Given the description of an element on the screen output the (x, y) to click on. 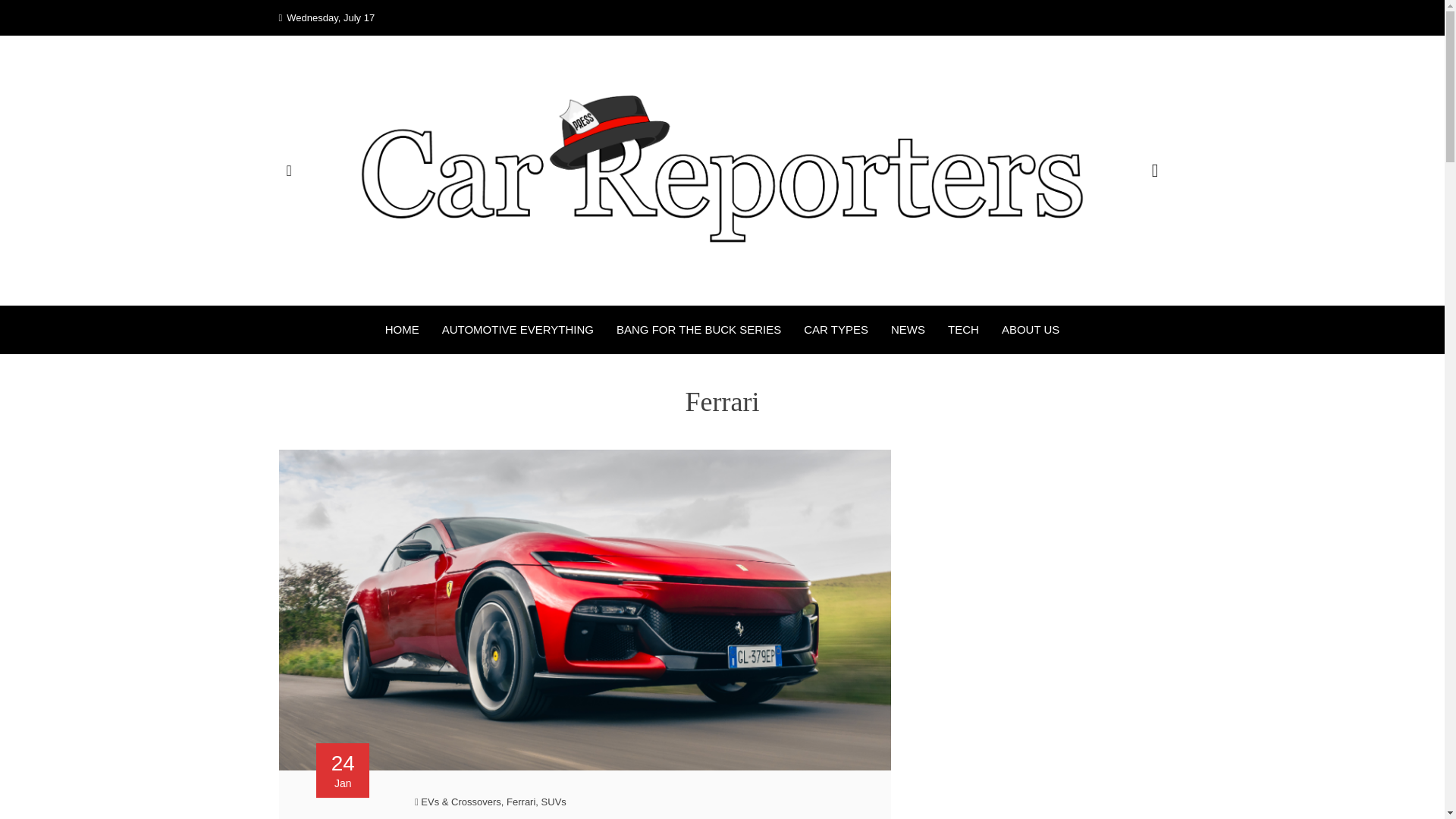
AUTOMOTIVE EVERYTHING (518, 329)
ABOUT US (1030, 329)
SUVs (553, 801)
Ferrari (520, 801)
TECH (962, 329)
CAR TYPES (835, 329)
HOME (402, 329)
BANG FOR THE BUCK SERIES (697, 329)
NEWS (907, 329)
